Given the description of an element on the screen output the (x, y) to click on. 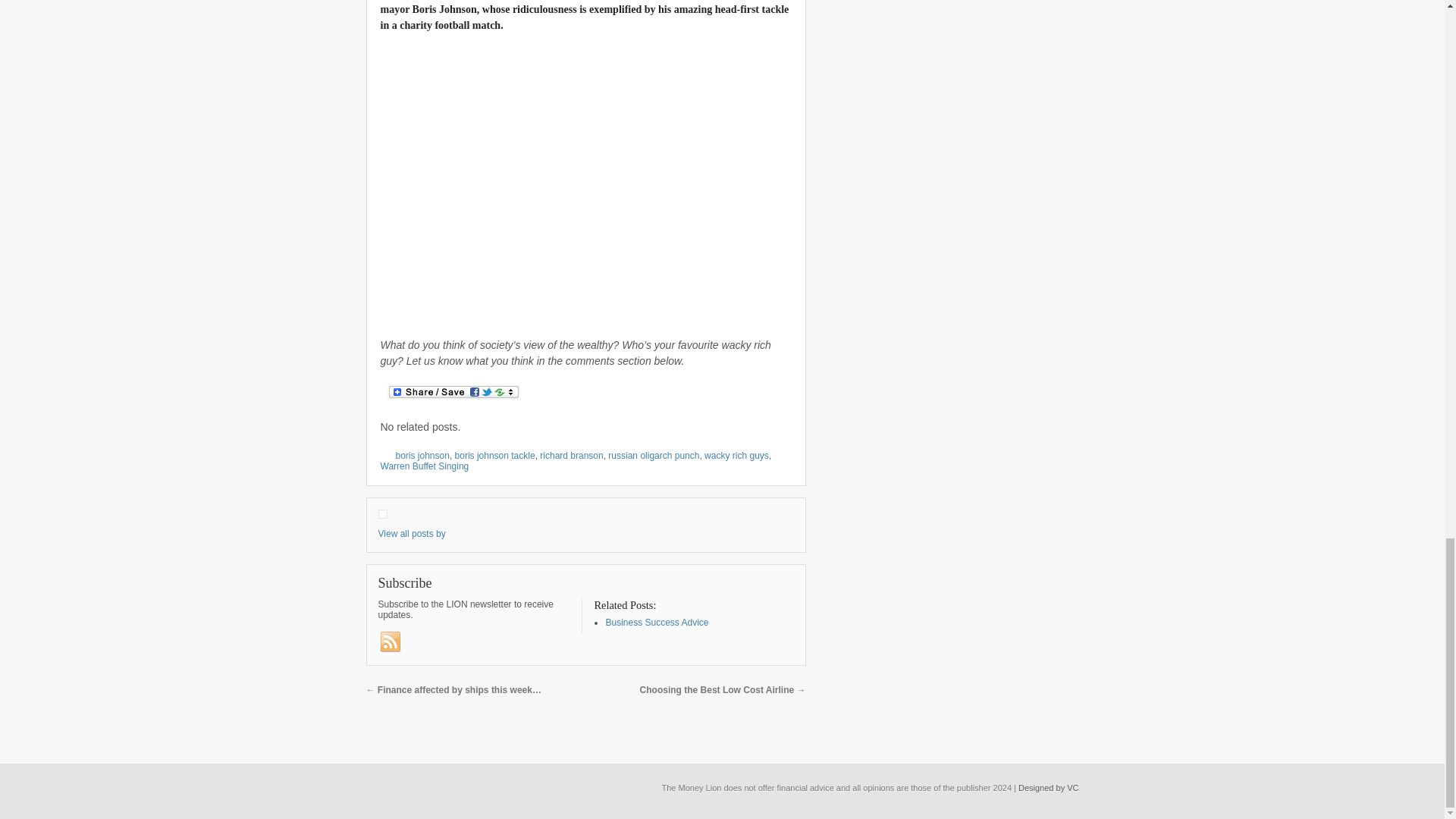
Warren Buffet Singing (424, 466)
boris johnson (422, 455)
Business Success Advice (656, 622)
View all posts by (411, 533)
russian oligarch punch (653, 455)
Subscribe to our RSS feed (389, 641)
wacky rich guys (736, 455)
boris johnson tackle (494, 455)
Business Success Advice (656, 622)
richard branson (571, 455)
